Given the description of an element on the screen output the (x, y) to click on. 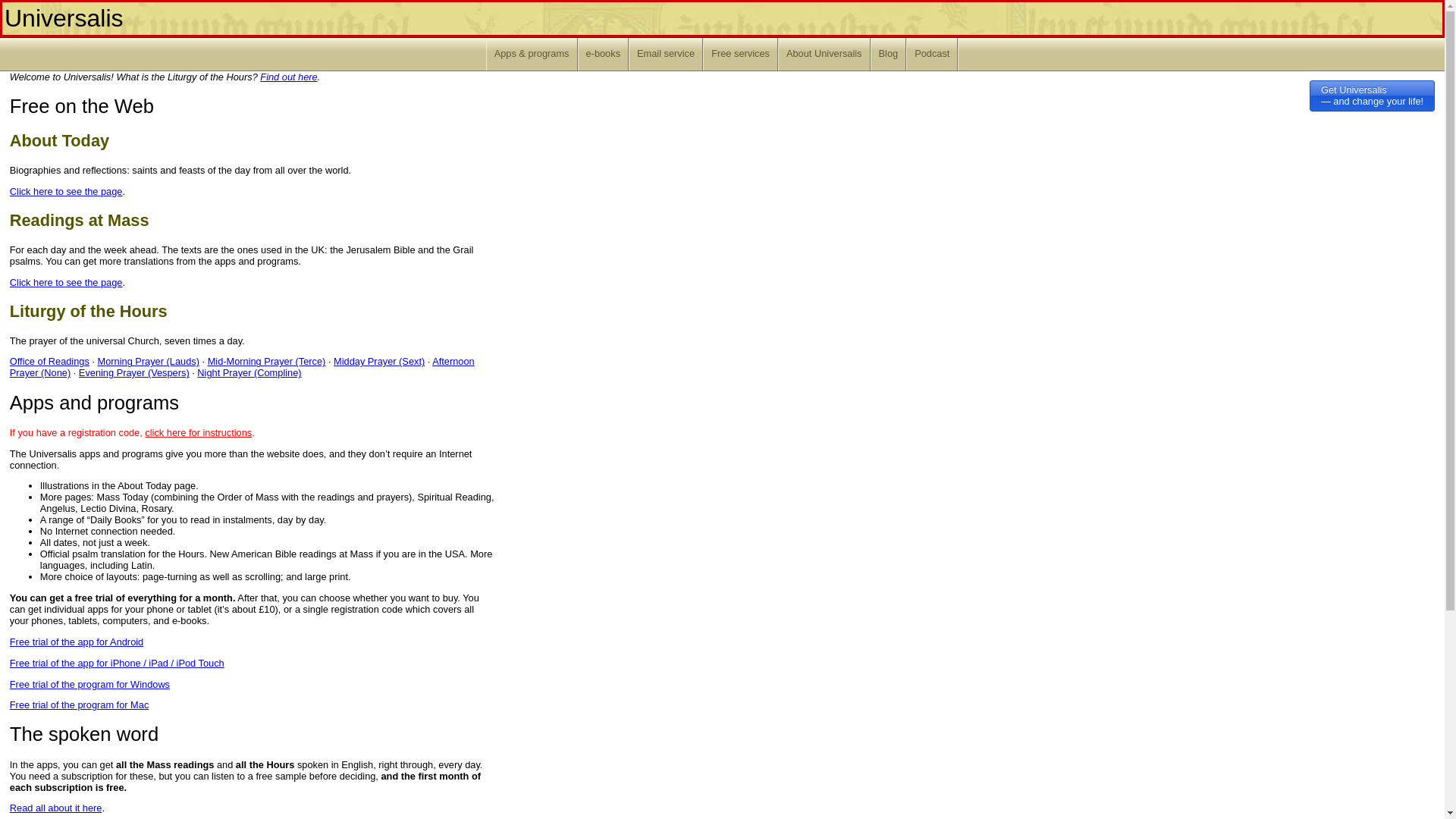
Read all about it here (55, 808)
Find out here (288, 76)
Office of Readings (49, 360)
Free services (740, 53)
Universalis (63, 17)
Free trial of the app for Android (76, 641)
Click here to see the page (66, 282)
Free trial of the program for Windows (90, 683)
Blog (888, 53)
e-books (603, 53)
Click here to see the page (66, 191)
Free trial of the program for Mac (79, 704)
About Universalis (823, 53)
click here for instructions (197, 432)
Podcast (931, 53)
